Given the description of an element on the screen output the (x, y) to click on. 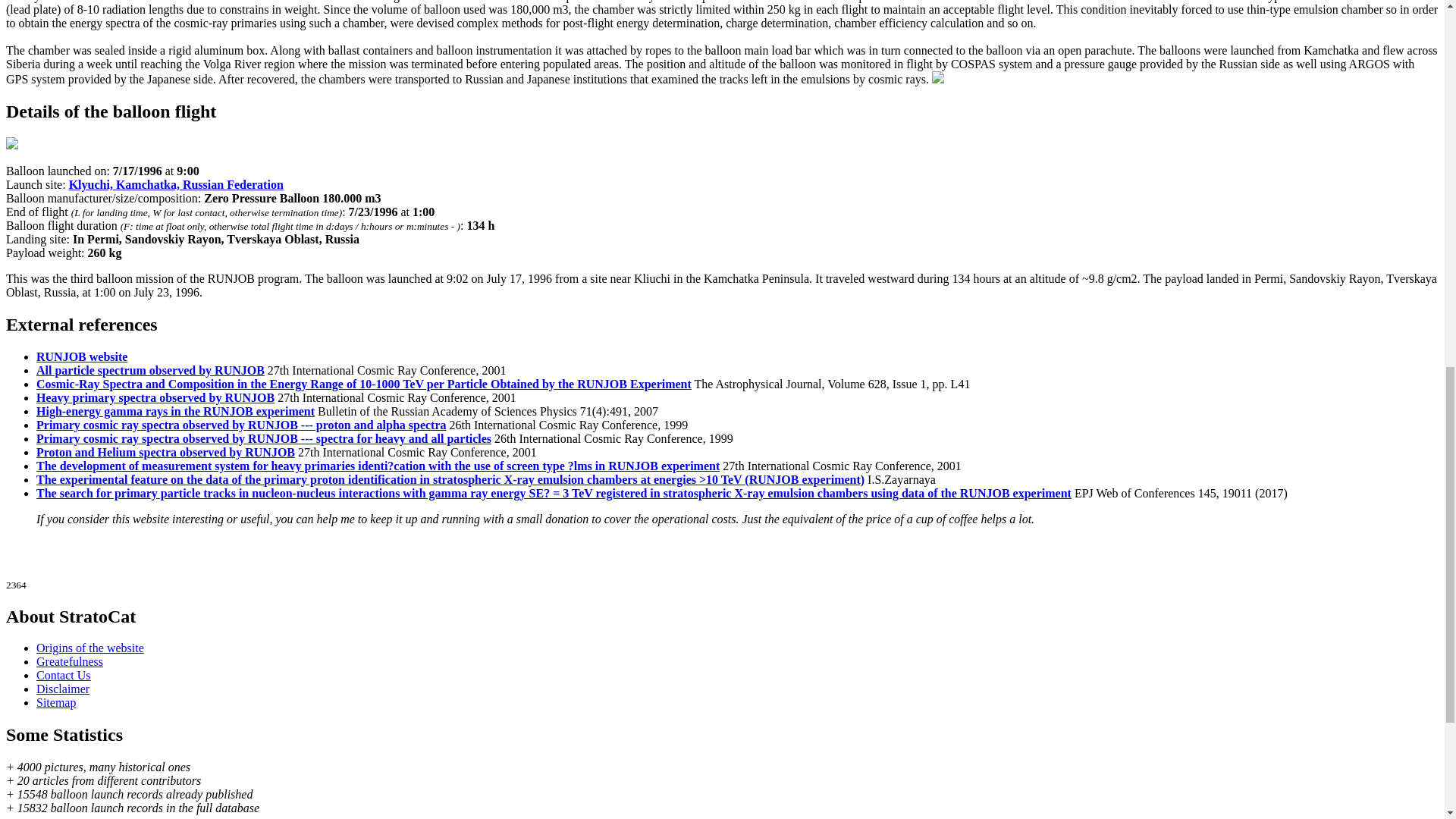
Klyuchi, Kamchatka, Russian Federation (175, 184)
Proton and Helium spectra observed by RUNJOB (165, 451)
High-energy gamma rays in the RUNJOB experiment (175, 410)
Contact Us (63, 675)
Disclaimer (62, 688)
All particle spectrum observed by RUNJOB (150, 369)
Heavy primary spectra observed by RUNJOB (155, 397)
RUNJOB website (82, 356)
Greatefulness (69, 661)
Sitemap (55, 702)
Origins of the website (90, 647)
